Given the description of an element on the screen output the (x, y) to click on. 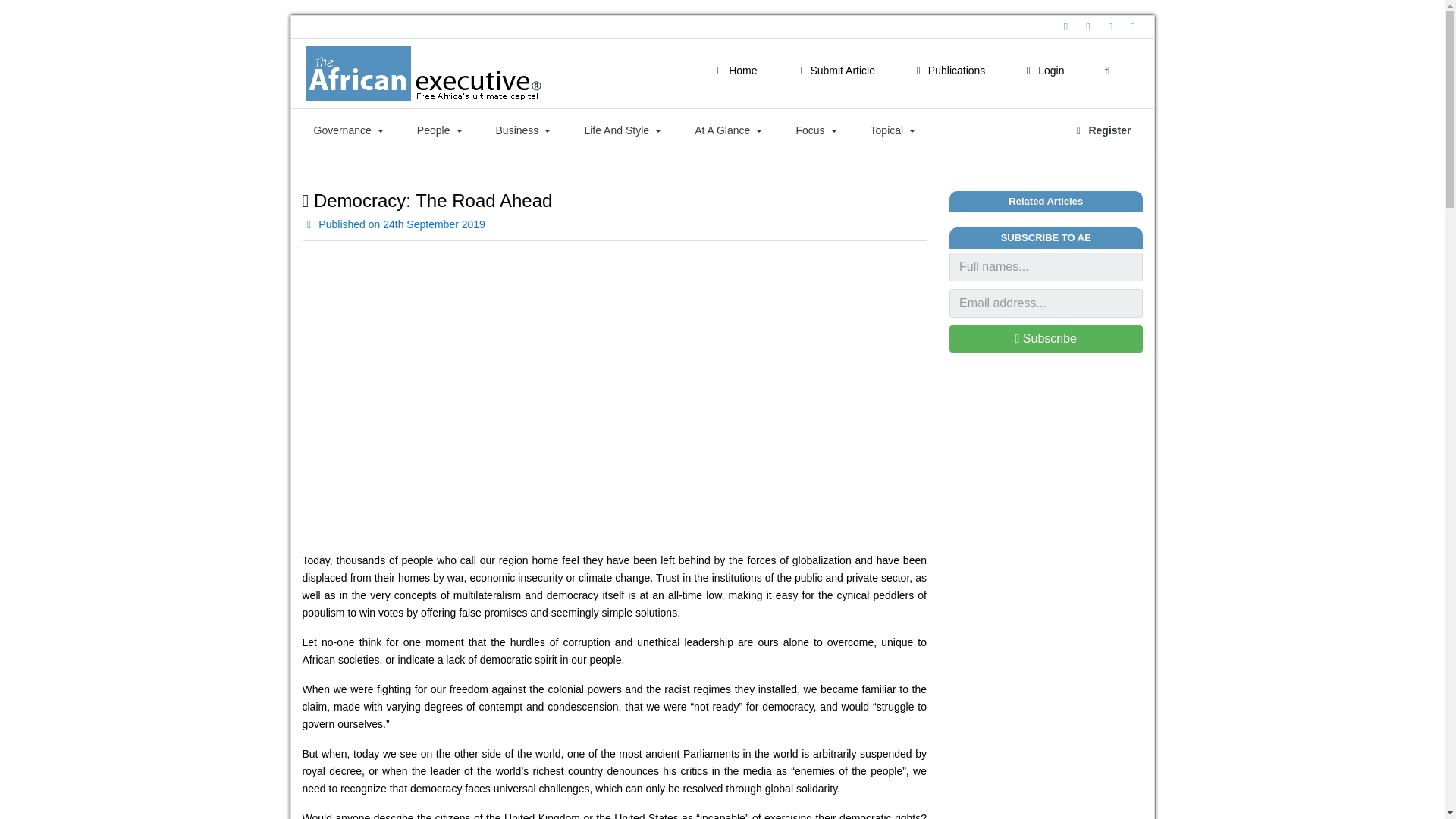
People (439, 130)
Login (1042, 71)
Life And Style (622, 130)
Publications (948, 71)
Home (734, 71)
Governance (348, 130)
Business (523, 130)
Submit Article (833, 71)
Focus (815, 130)
At A Glance (728, 130)
